Given the description of an element on the screen output the (x, y) to click on. 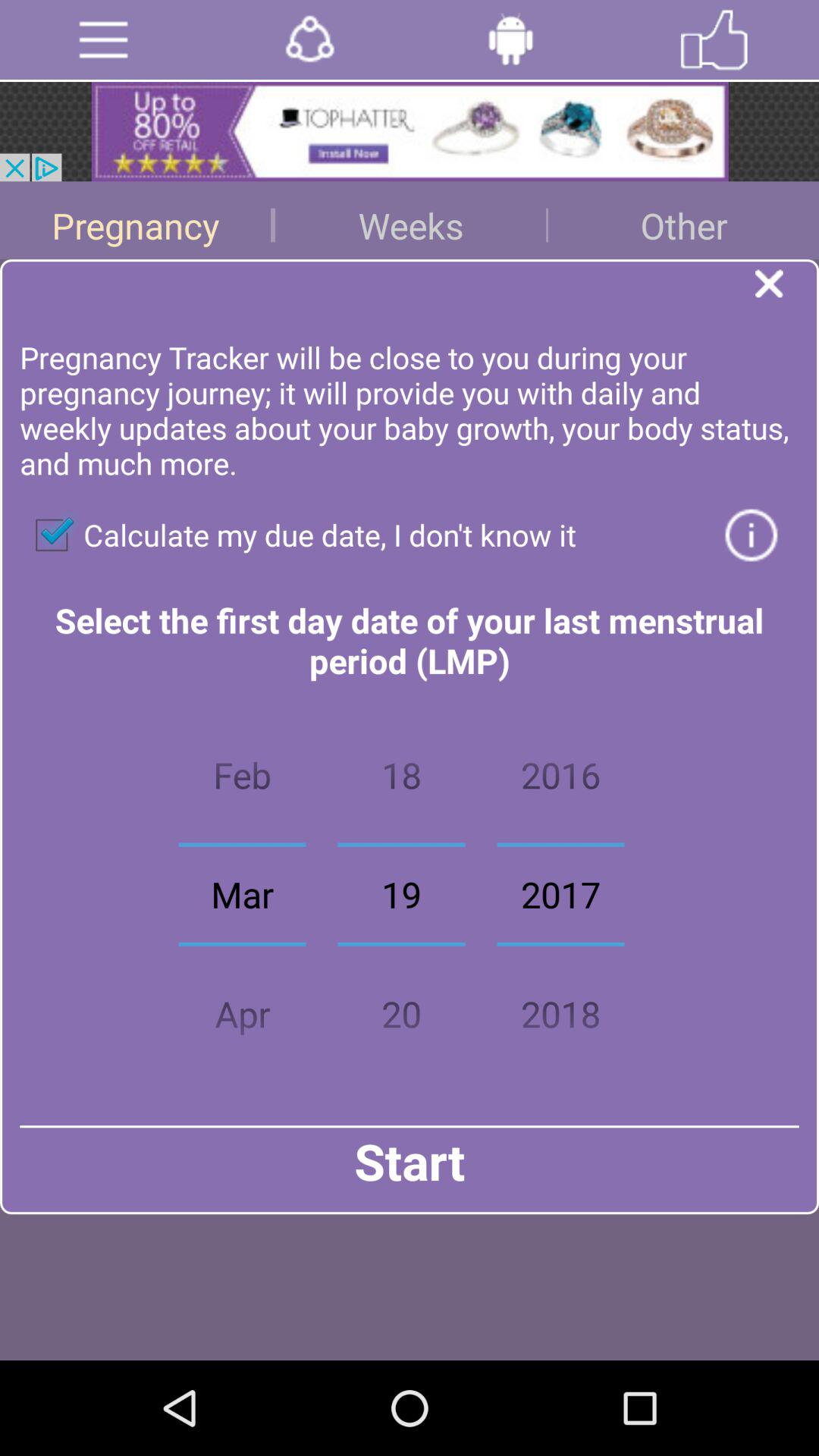
go to advertisement (409, 131)
